Given the description of an element on the screen output the (x, y) to click on. 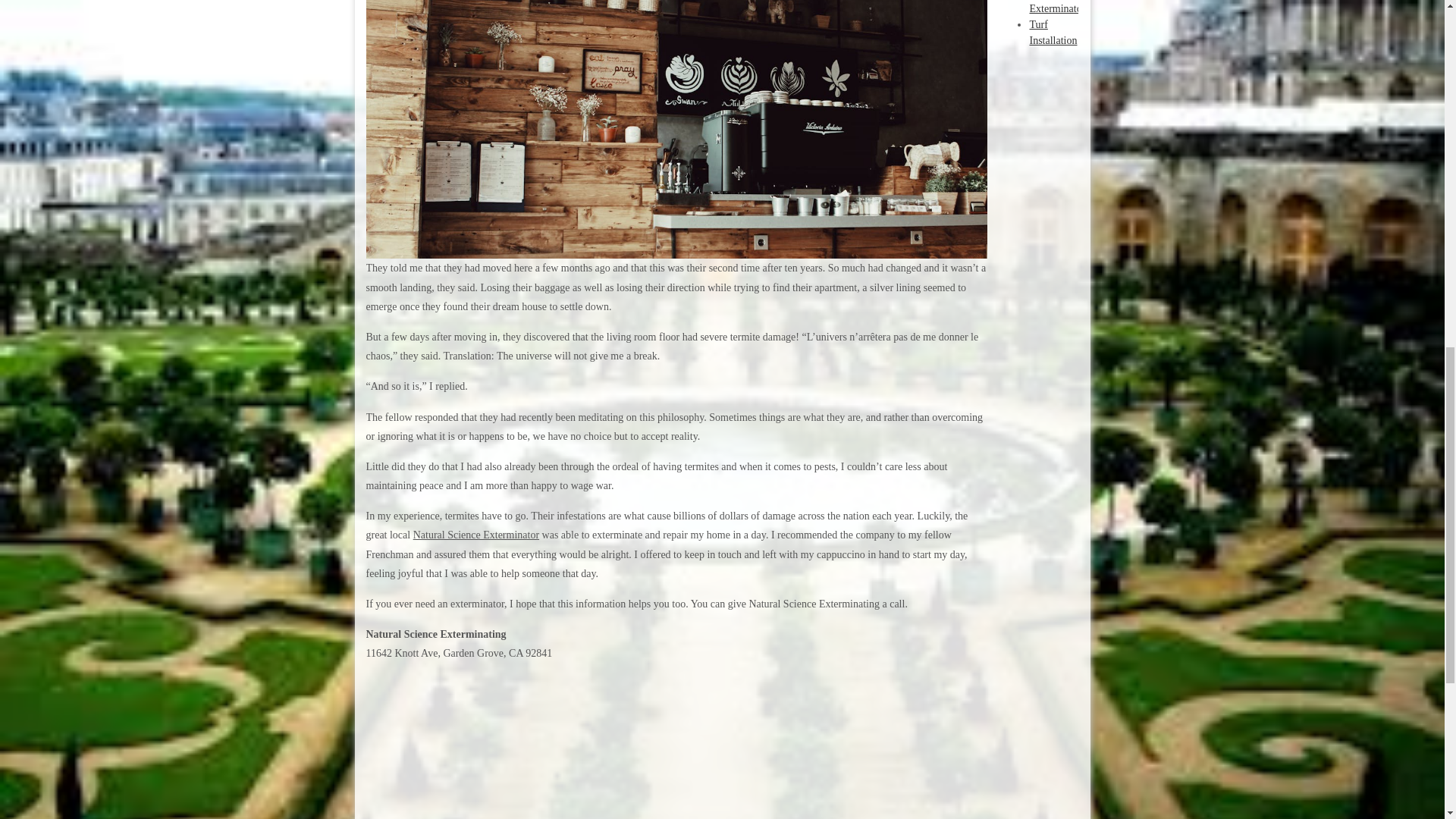
Turf Installation (1053, 31)
Termite Exterminator (1056, 6)
Natural Science Exterminator (475, 534)
